Given the description of an element on the screen output the (x, y) to click on. 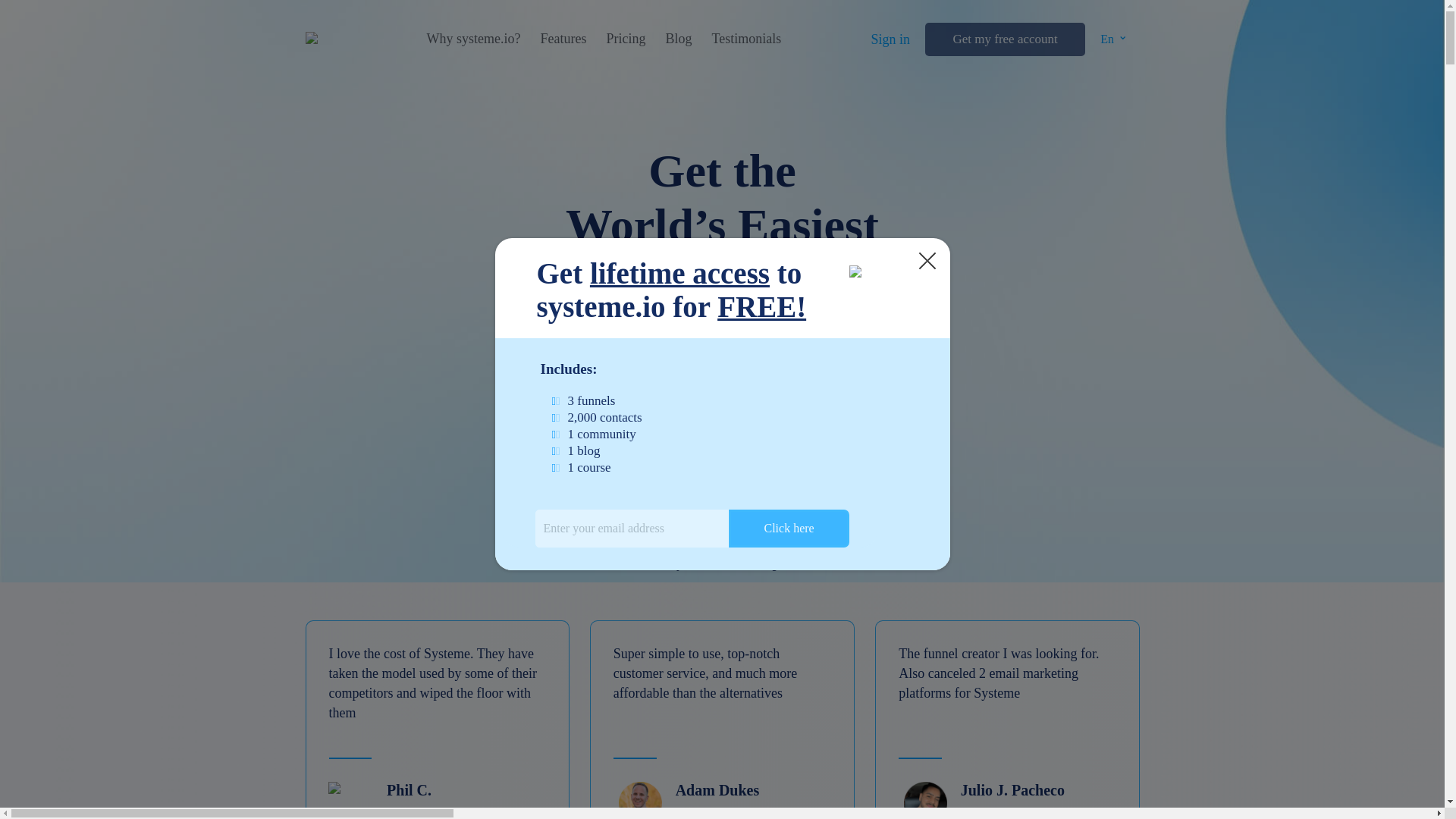
Sign in (890, 39)
Pricing (625, 38)
Why systeme.io? (472, 38)
Blog (678, 38)
Testimonials (745, 38)
Features (563, 38)
Get my free account (1004, 39)
